Given the description of an element on the screen output the (x, y) to click on. 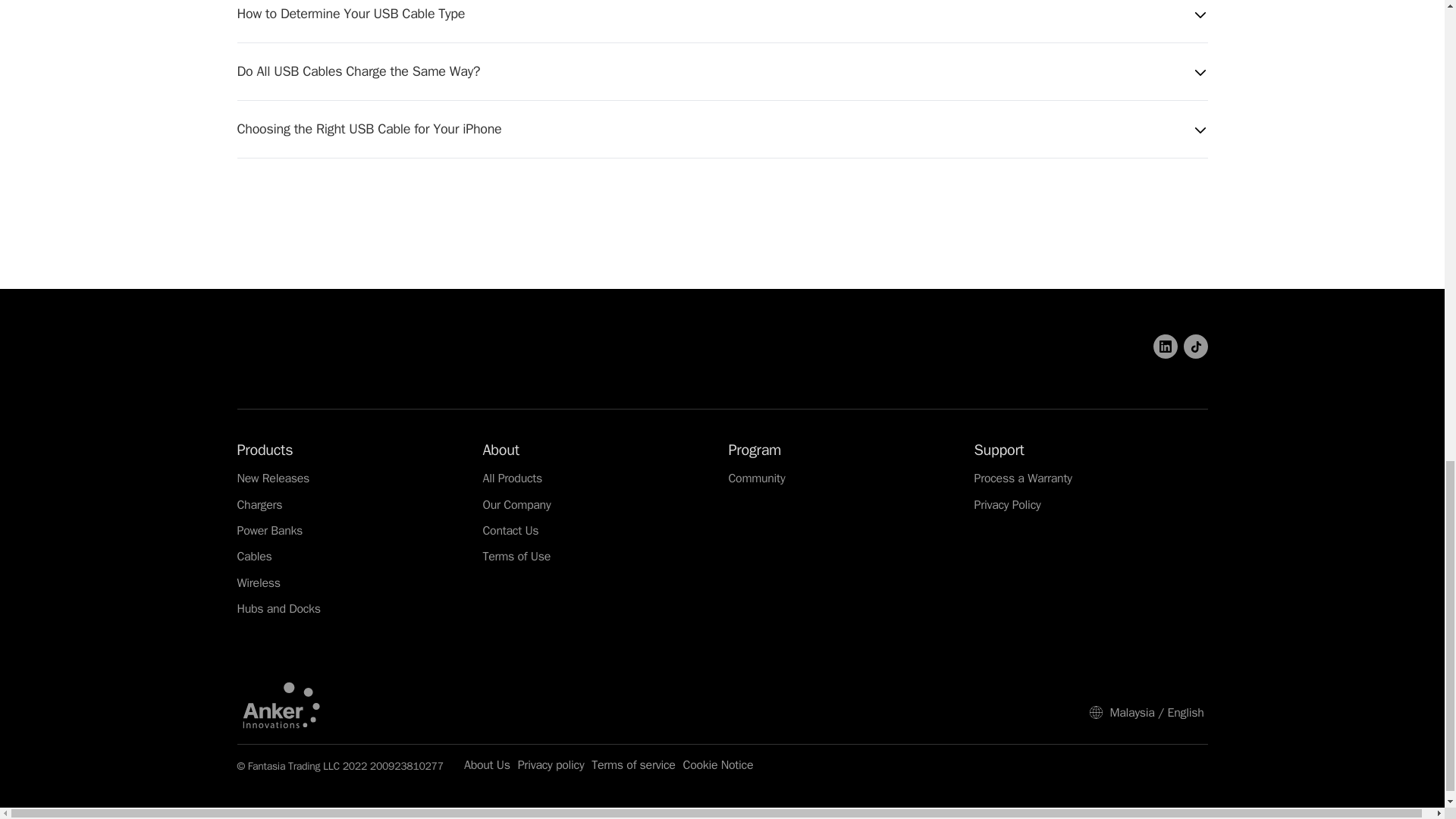
Power Banks (268, 530)
Cables (252, 556)
Chargers (258, 504)
New Releases (271, 478)
